Given the description of an element on the screen output the (x, y) to click on. 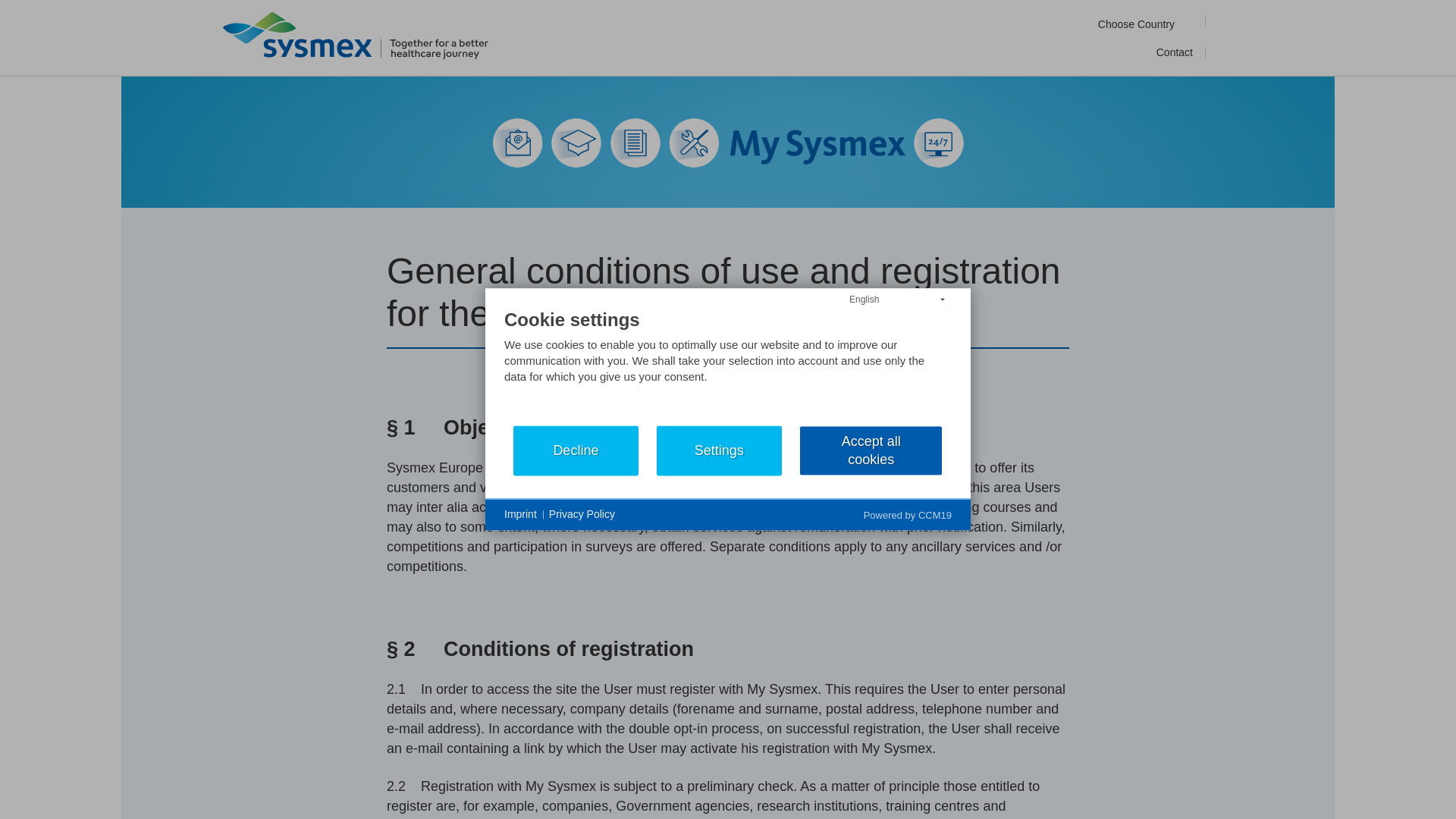
Powered by CCM19 (907, 514)
Accept all cookies (870, 450)
Settings (718, 450)
Privacy Policy (581, 514)
Contact (1174, 51)
Choose Country (1145, 25)
Decline (576, 450)
Imprint (520, 514)
